Given the description of an element on the screen output the (x, y) to click on. 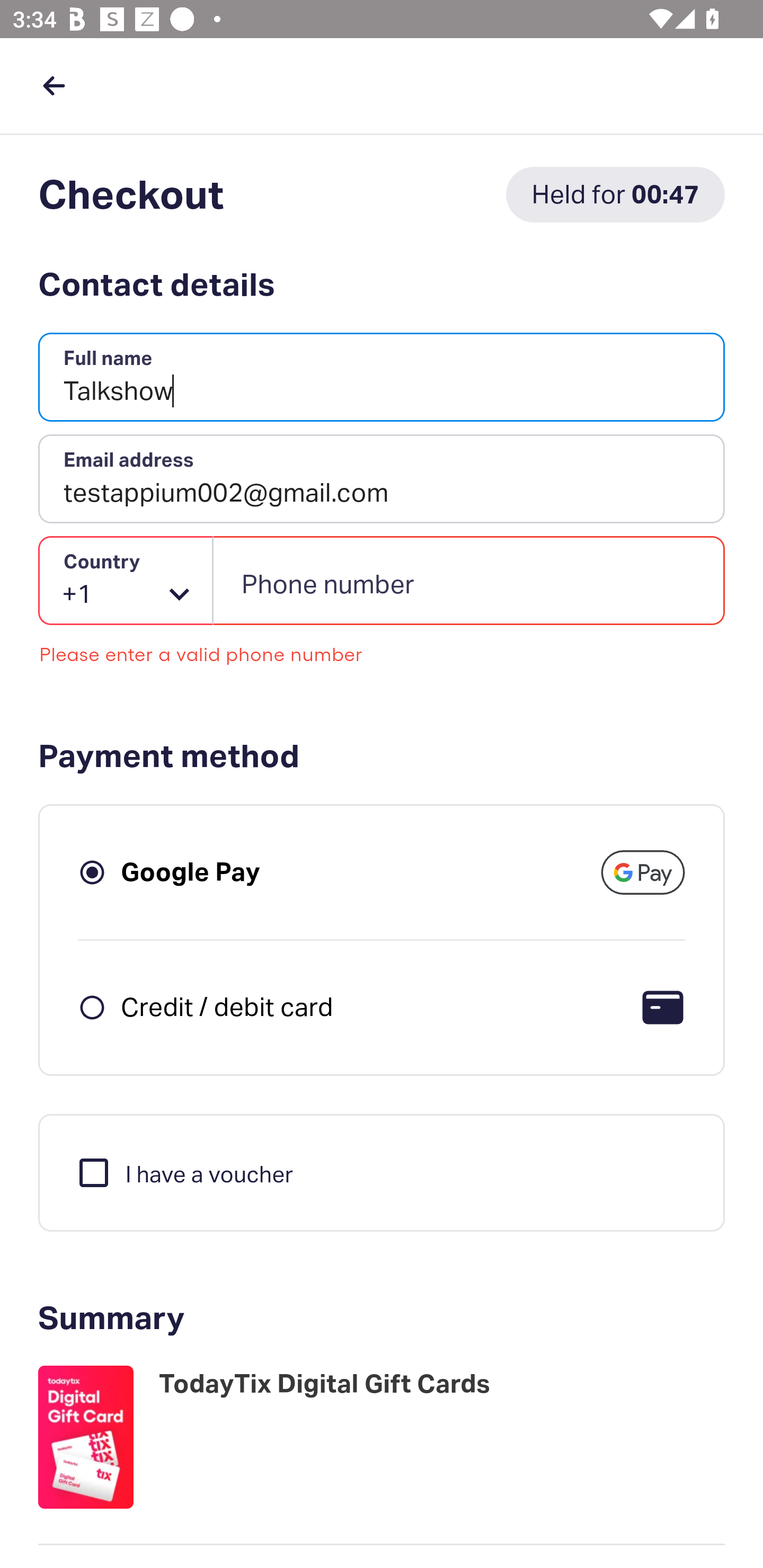
back button (53, 85)
Talkshow (381, 377)
testappium002@gmail.com (381, 478)
  +1 (126, 580)
Google Pay (190, 871)
Credit / debit card (227, 1006)
I have a voucher (183, 1171)
